Given the description of an element on the screen output the (x, y) to click on. 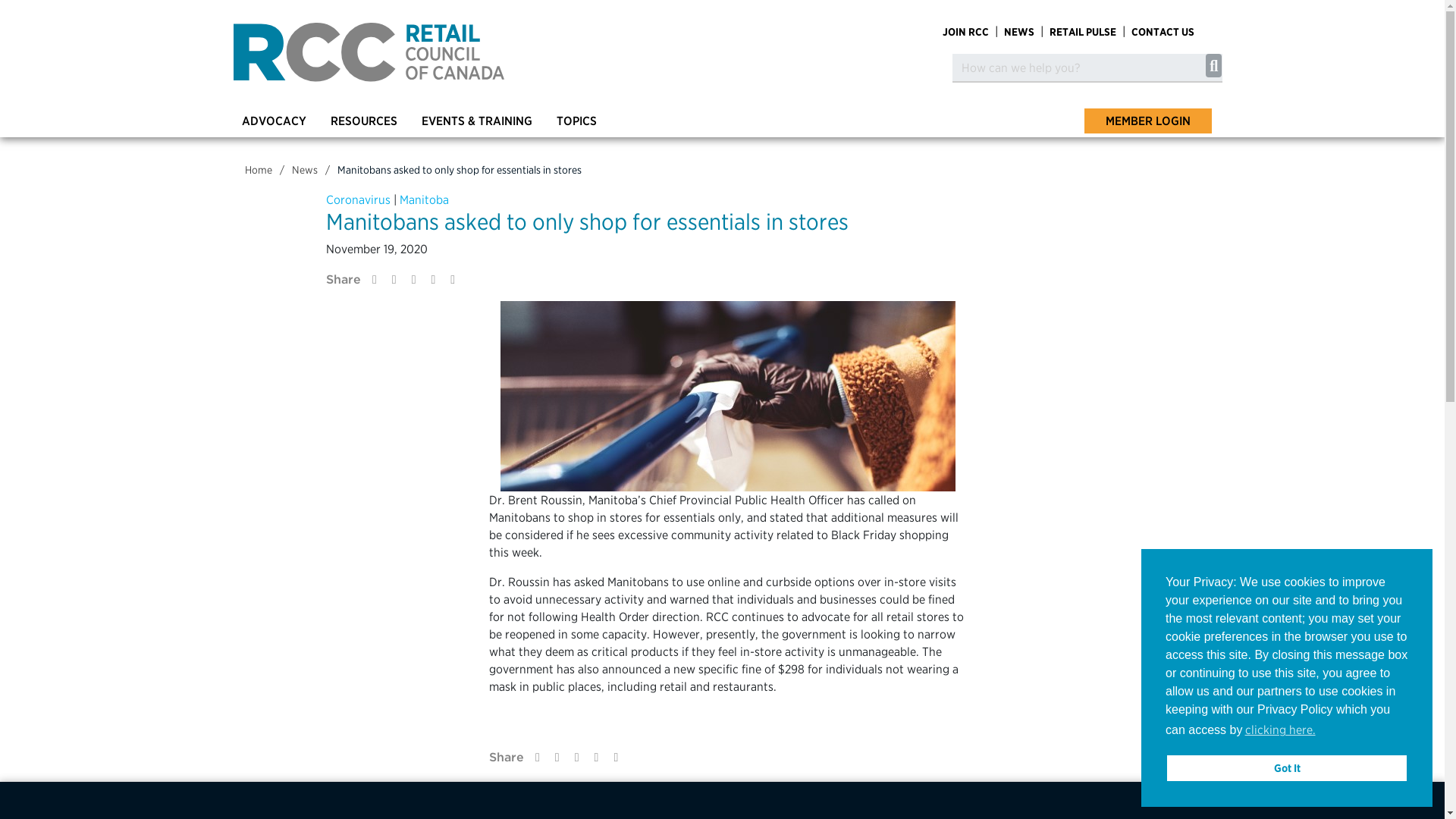
Home (257, 169)
NEWS (1019, 31)
RETAIL PULSE (1082, 31)
JOIN RCC (965, 31)
MEMBER LOGIN (1147, 120)
ADVOCACY (273, 122)
CONTACT US (1162, 31)
TOPICS (575, 122)
RESOURCES (362, 122)
Manitobans asked to only shop for essentials in stores (458, 169)
Retail Council of Canada (368, 52)
